Given the description of an element on the screen output the (x, y) to click on. 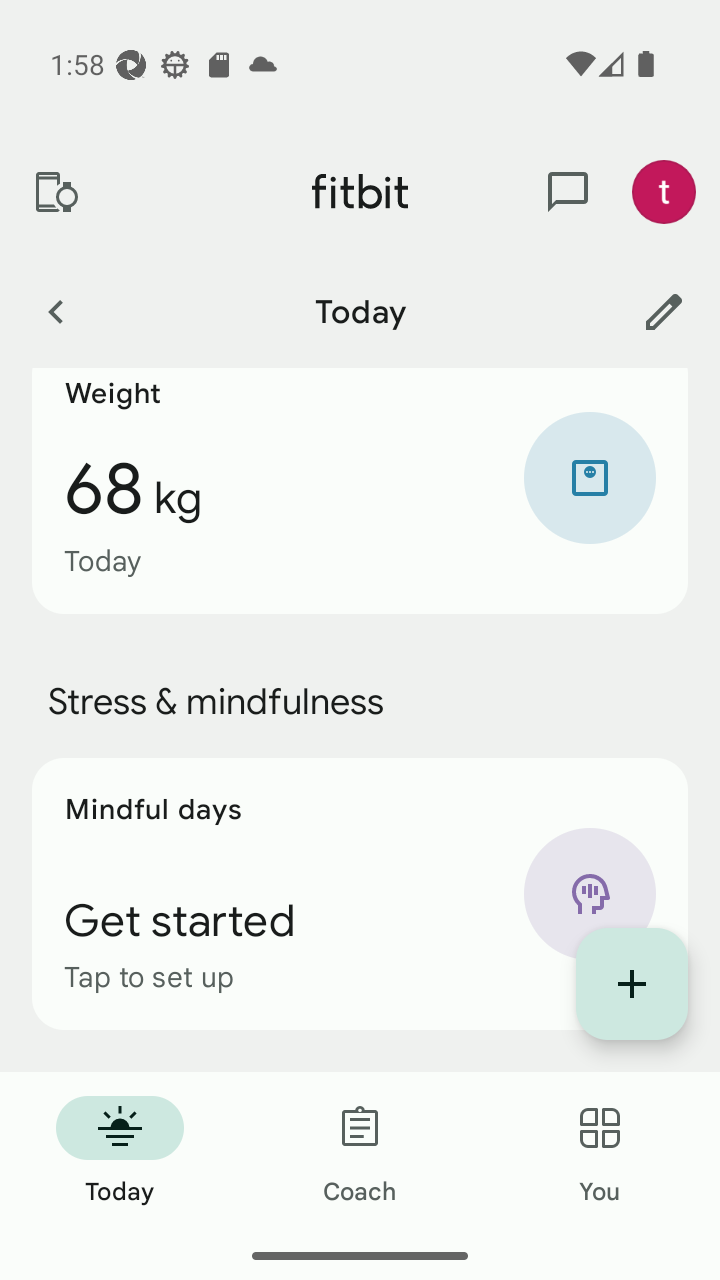
Devices and apps (55, 191)
messages and notifications (567, 191)
Previous Day (55, 311)
Customize (664, 311)
Weight 68 kg Today Monitor weight scale icon. (359, 491)
Display list of quick log entries (632, 983)
Coach (359, 1151)
You (600, 1151)
